Given the description of an element on the screen output the (x, y) to click on. 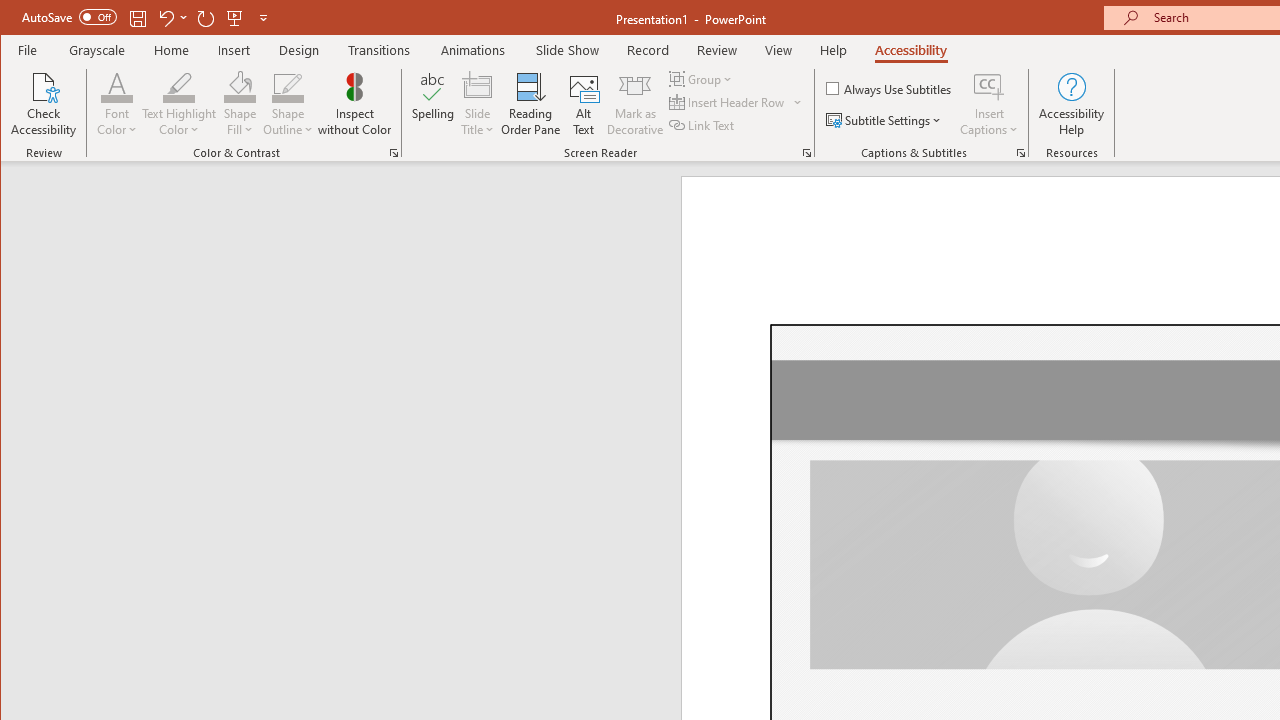
Check Accessibility (43, 104)
Link Text (703, 124)
Reading Order Pane (531, 104)
Alt Text (584, 104)
Insert Captions (989, 104)
Color & Contrast (393, 152)
Slide Title (477, 104)
